Given the description of an element on the screen output the (x, y) to click on. 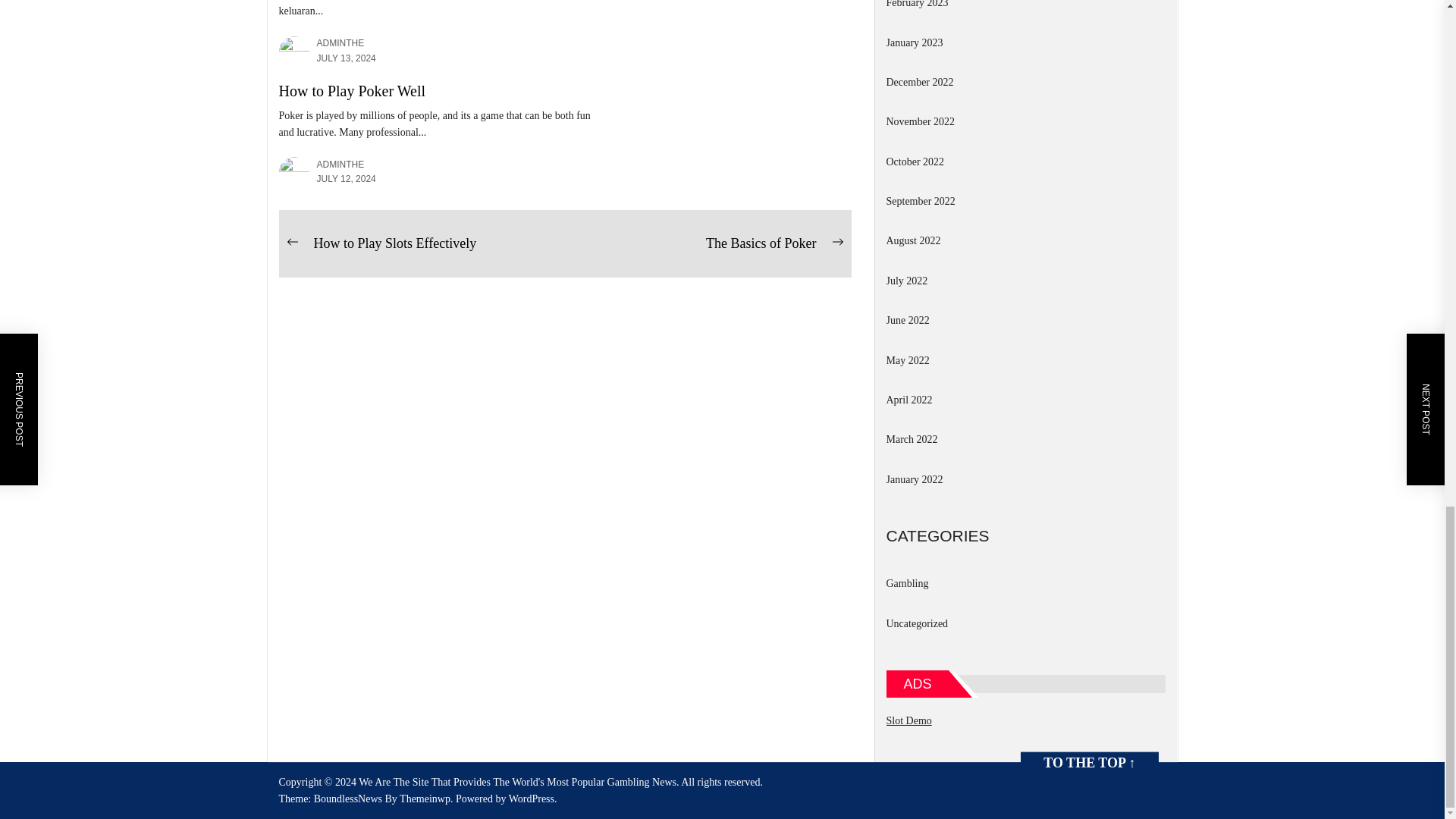
Themeinwp (426, 798)
WordPress (532, 798)
